Given the description of an element on the screen output the (x, y) to click on. 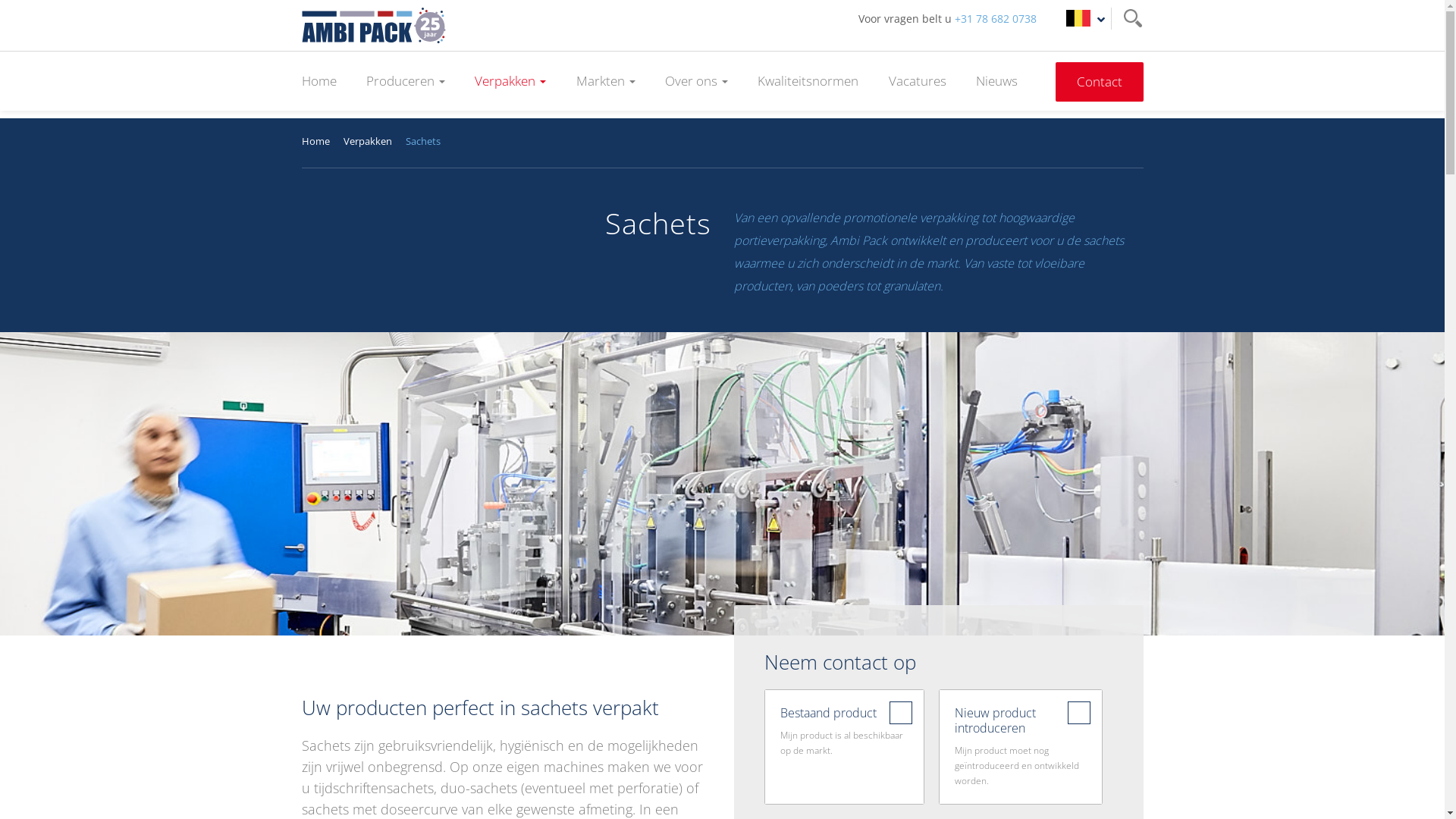
Produceren Element type: text (405, 80)
Home Element type: text (315, 140)
Search Element type: text (23, 12)
Over ons Element type: text (696, 80)
Markten Element type: text (605, 80)
Vacatures Element type: text (917, 80)
Home Element type: text (318, 80)
Verpakken Element type: text (366, 140)
Nieuws Element type: text (996, 80)
Search for: Element type: hover (1130, 17)
Kwaliteitsnormen Element type: text (807, 80)
Verpakken Element type: text (510, 80)
Contact Element type: text (1099, 81)
+31 78 682 0738 Element type: text (994, 18)
